Given the description of an element on the screen output the (x, y) to click on. 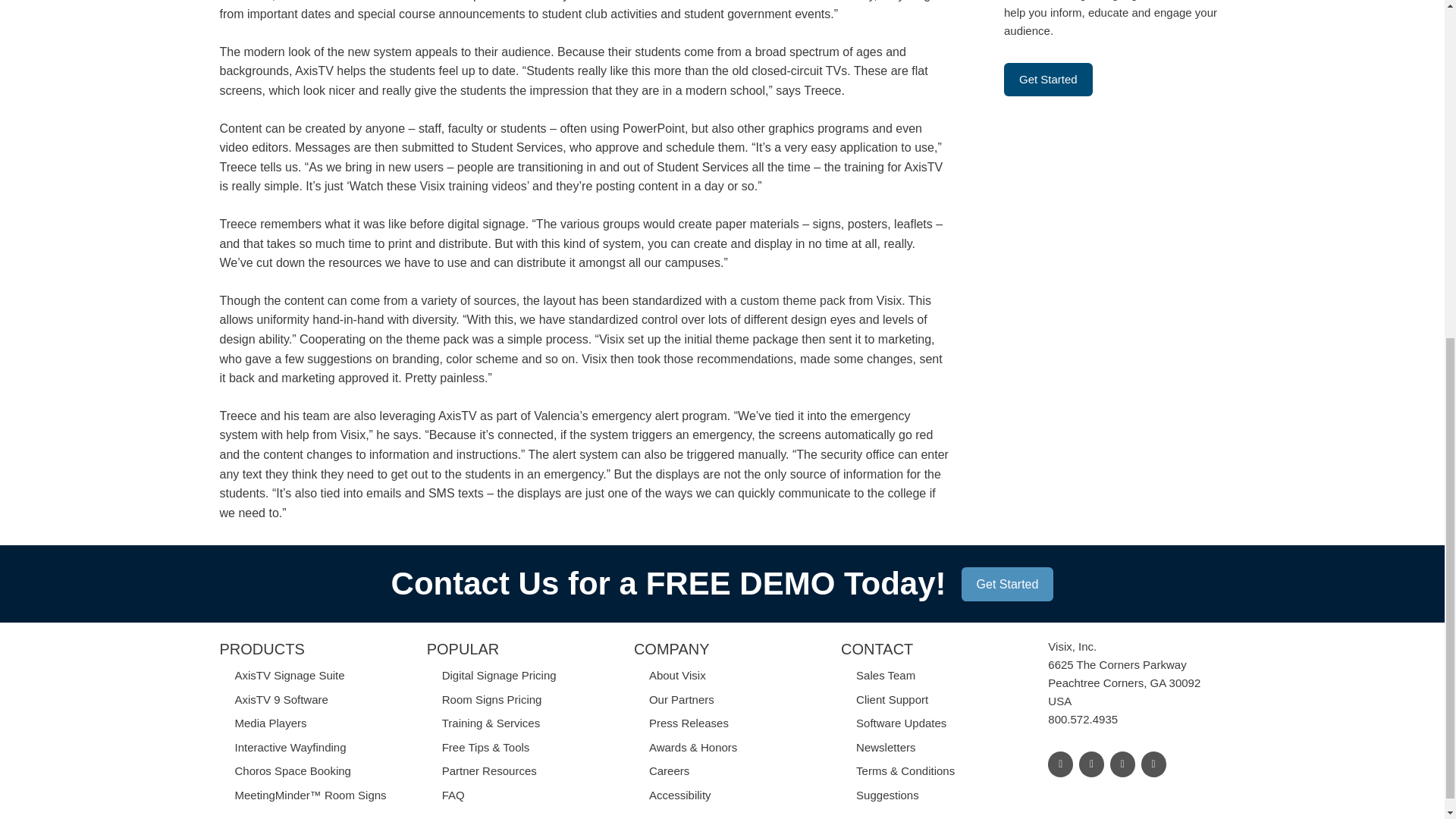
LinkedIn (1060, 764)
Facebook (1090, 764)
YouTube (1153, 764)
Twitter (1122, 764)
